Given the description of an element on the screen output the (x, y) to click on. 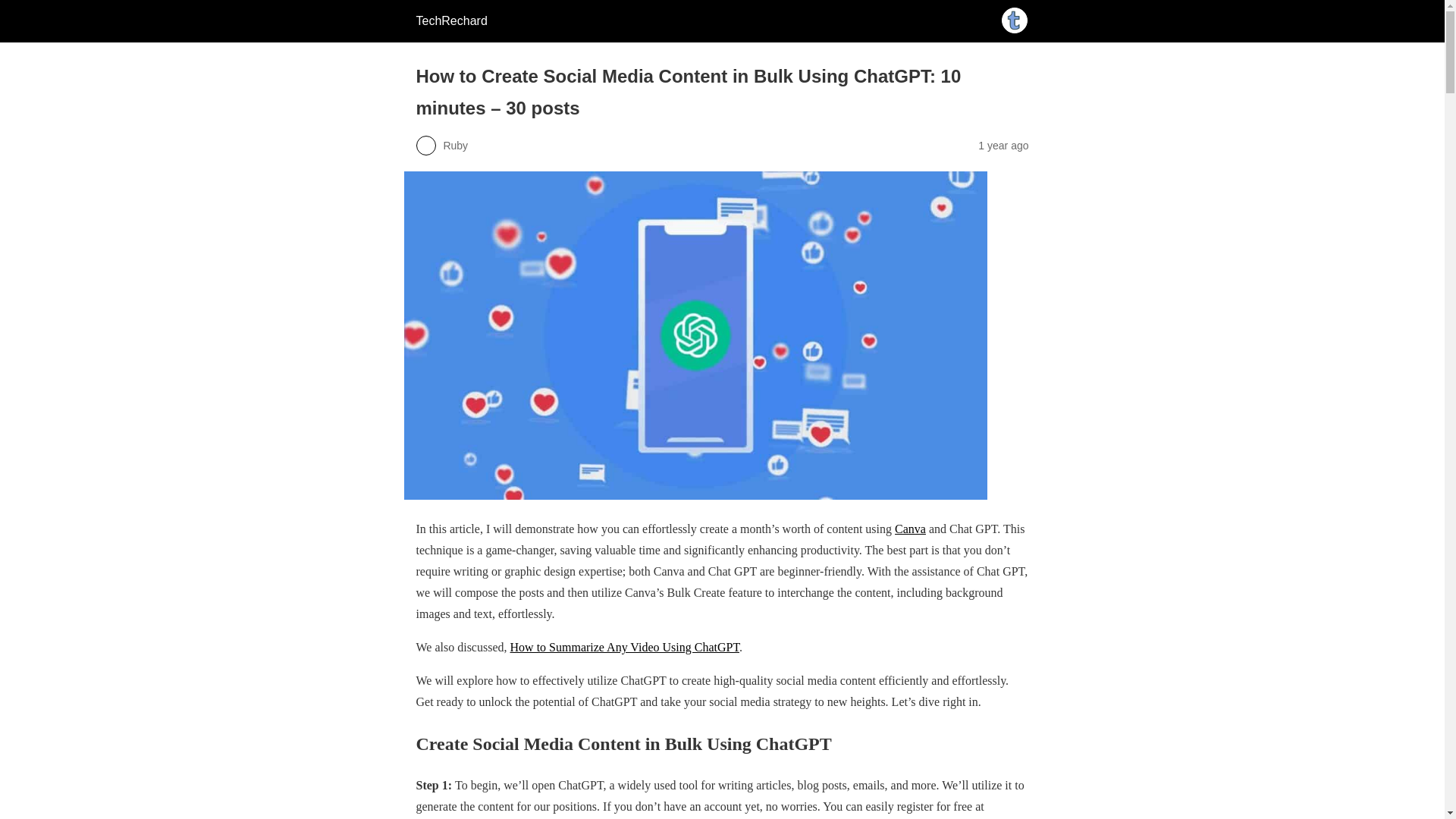
How to Summarize Any Video Using ChatGPT (625, 646)
Canva (910, 528)
TechRechard (450, 20)
